Given the description of an element on the screen output the (x, y) to click on. 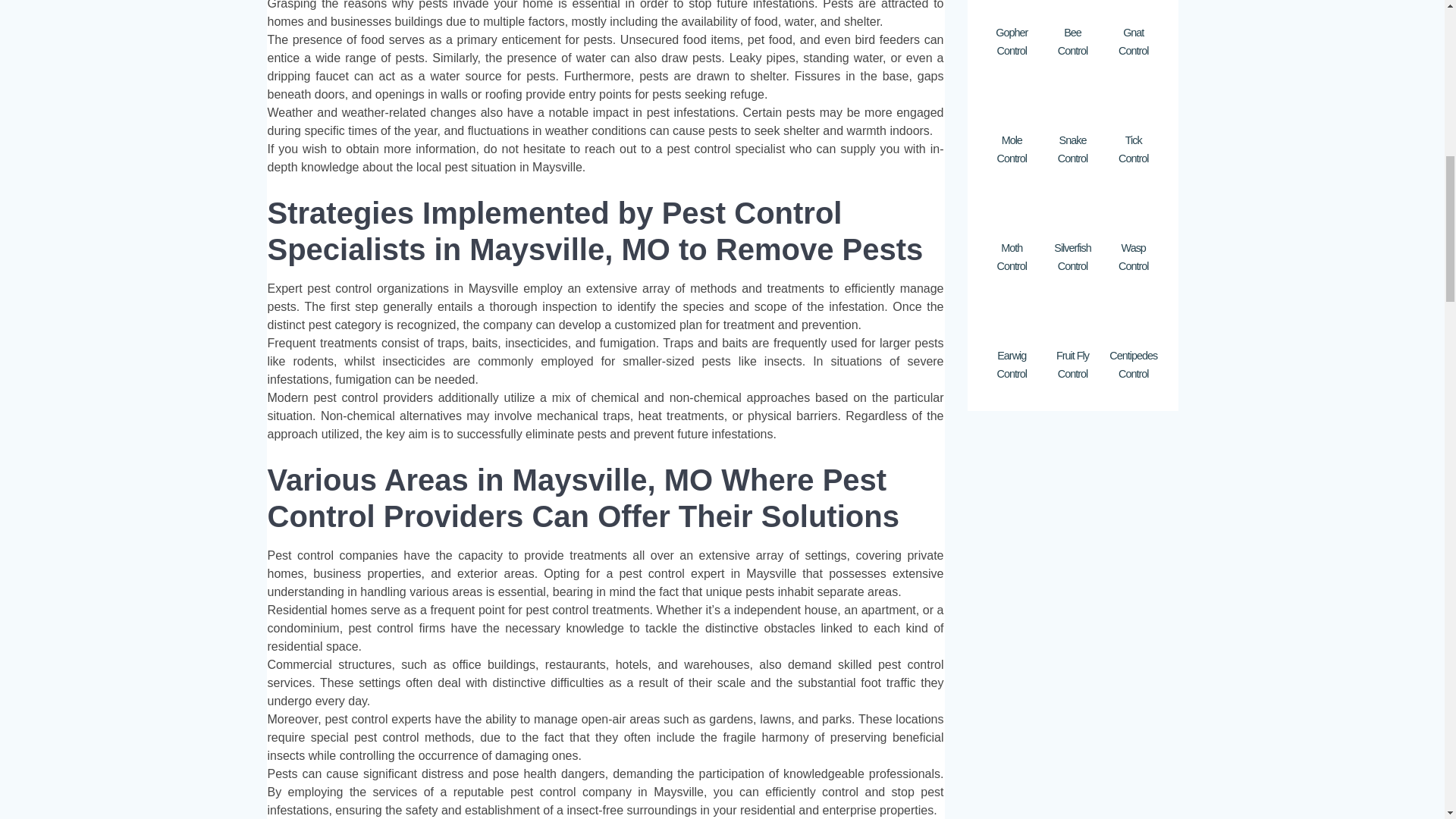
Pest control against silverfish (1072, 207)
Pest control against gophers (1011, 8)
Pest control against fruit flies (1072, 315)
Pest control against moles (1011, 100)
Pest control against bees (1072, 8)
Pest control against earwigs (1011, 315)
Pest control against moths (1011, 207)
Pest control against snakes (1072, 100)
